Given the description of an element on the screen output the (x, y) to click on. 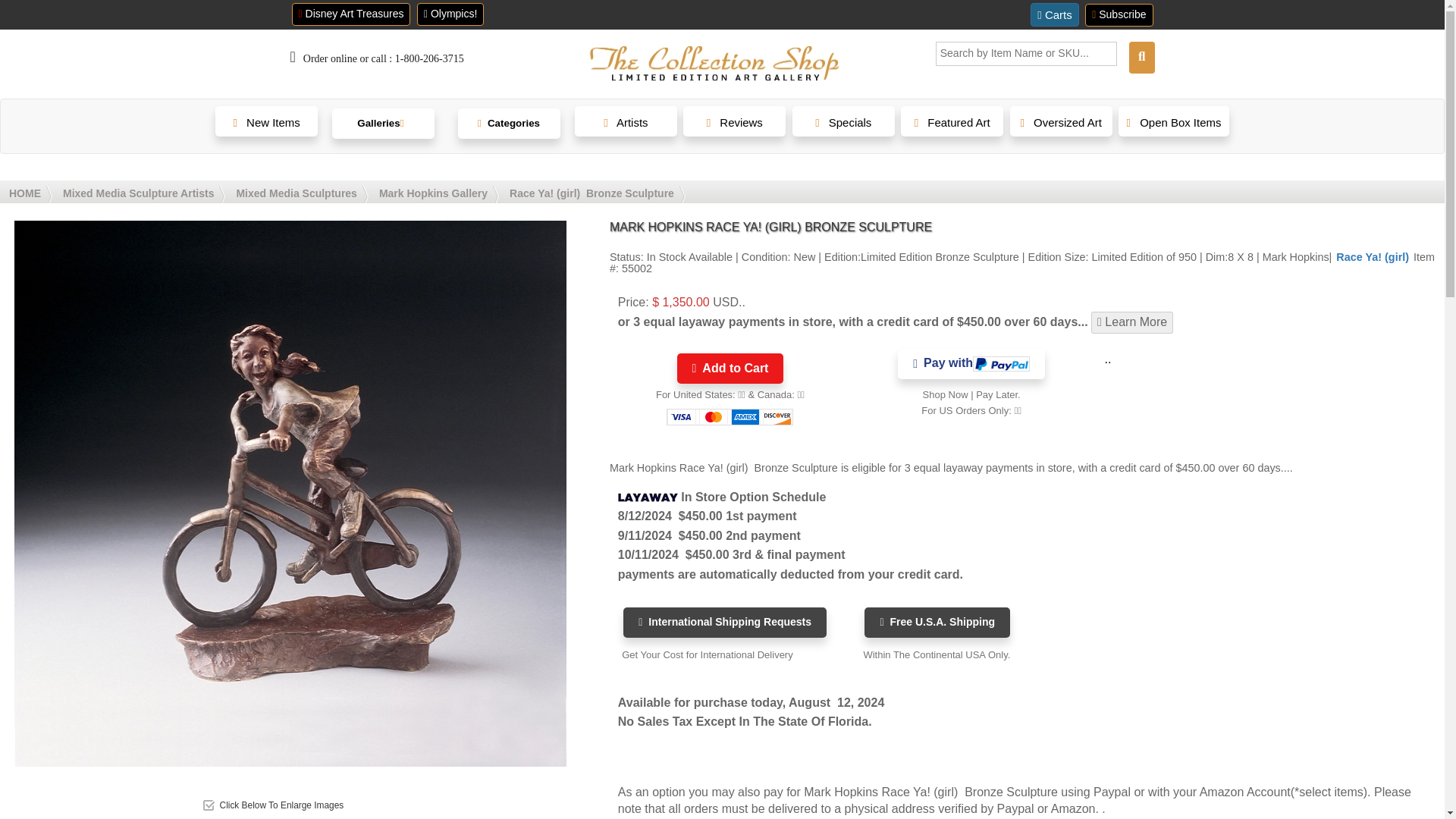
Galleries (384, 126)
Subscribe (1118, 15)
Disney Art Treasures (350, 14)
Olympics! (449, 14)
New Items (266, 121)
Categories (509, 125)
Carts (1054, 14)
